Given the description of an element on the screen output the (x, y) to click on. 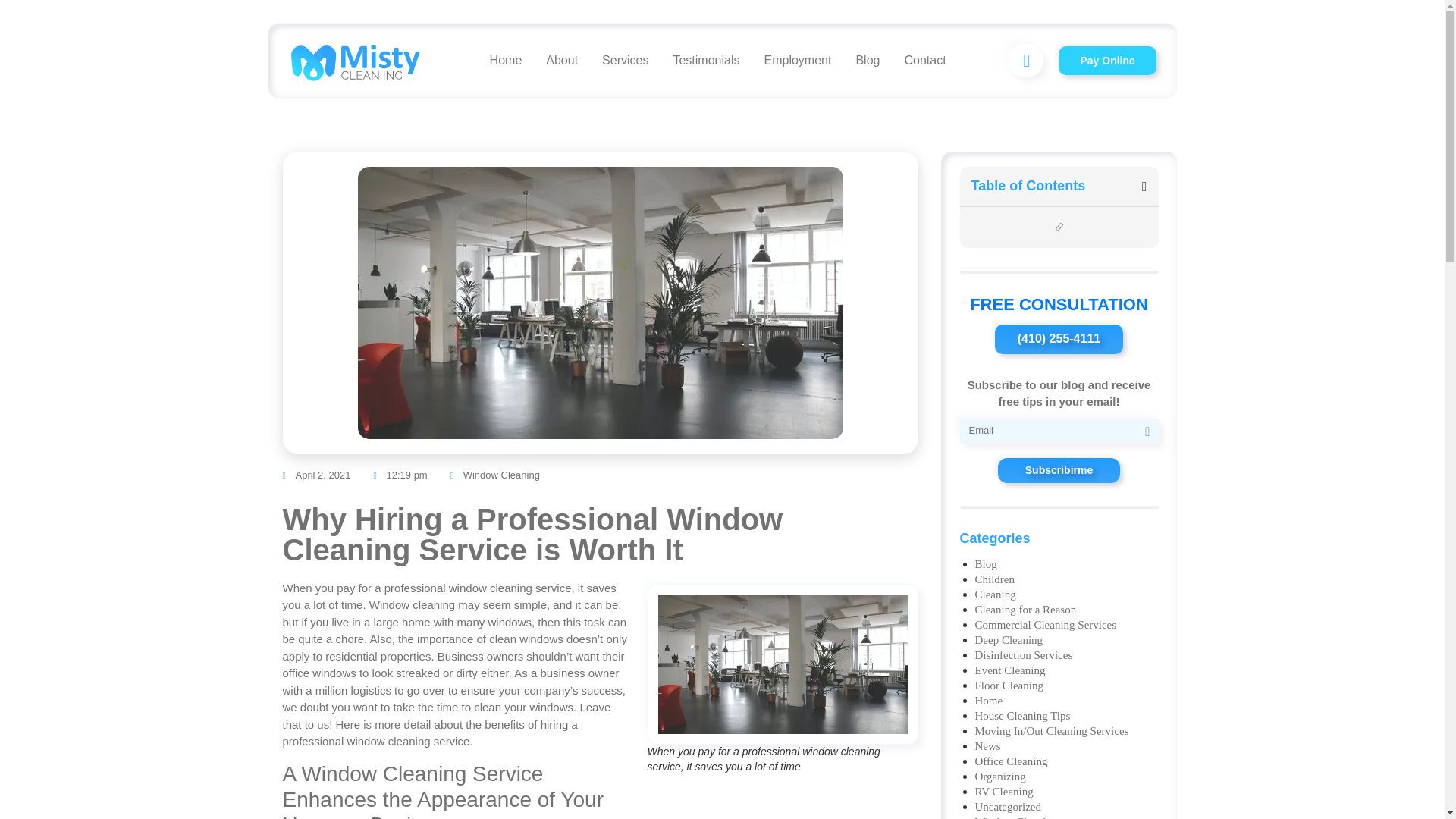
Testimonials (706, 60)
Employment (797, 60)
Services (625, 60)
About (561, 60)
Home (505, 60)
Contact (924, 60)
Blog (867, 60)
